Given the description of an element on the screen output the (x, y) to click on. 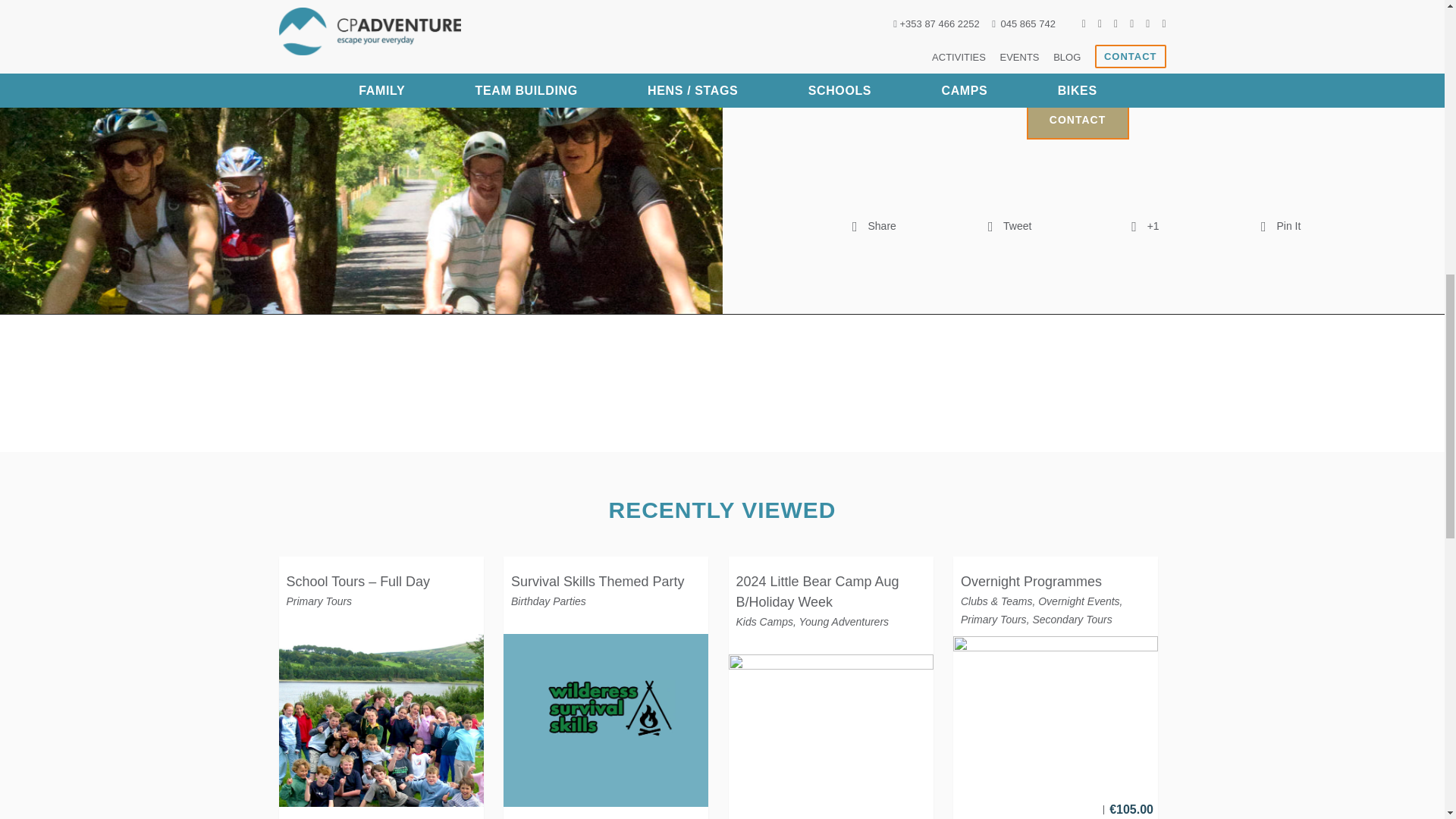
CONTACT (1077, 119)
Tweet (1010, 225)
Overnight Events (1078, 601)
Survival Skills Themed Party (597, 581)
Primary Tours (319, 601)
Birthday Parties (548, 601)
Young Adventurers (844, 621)
Pin It (1280, 225)
Share (873, 225)
Overnight Programmes (1031, 581)
Kids Camps (763, 621)
